Given the description of an element on the screen output the (x, y) to click on. 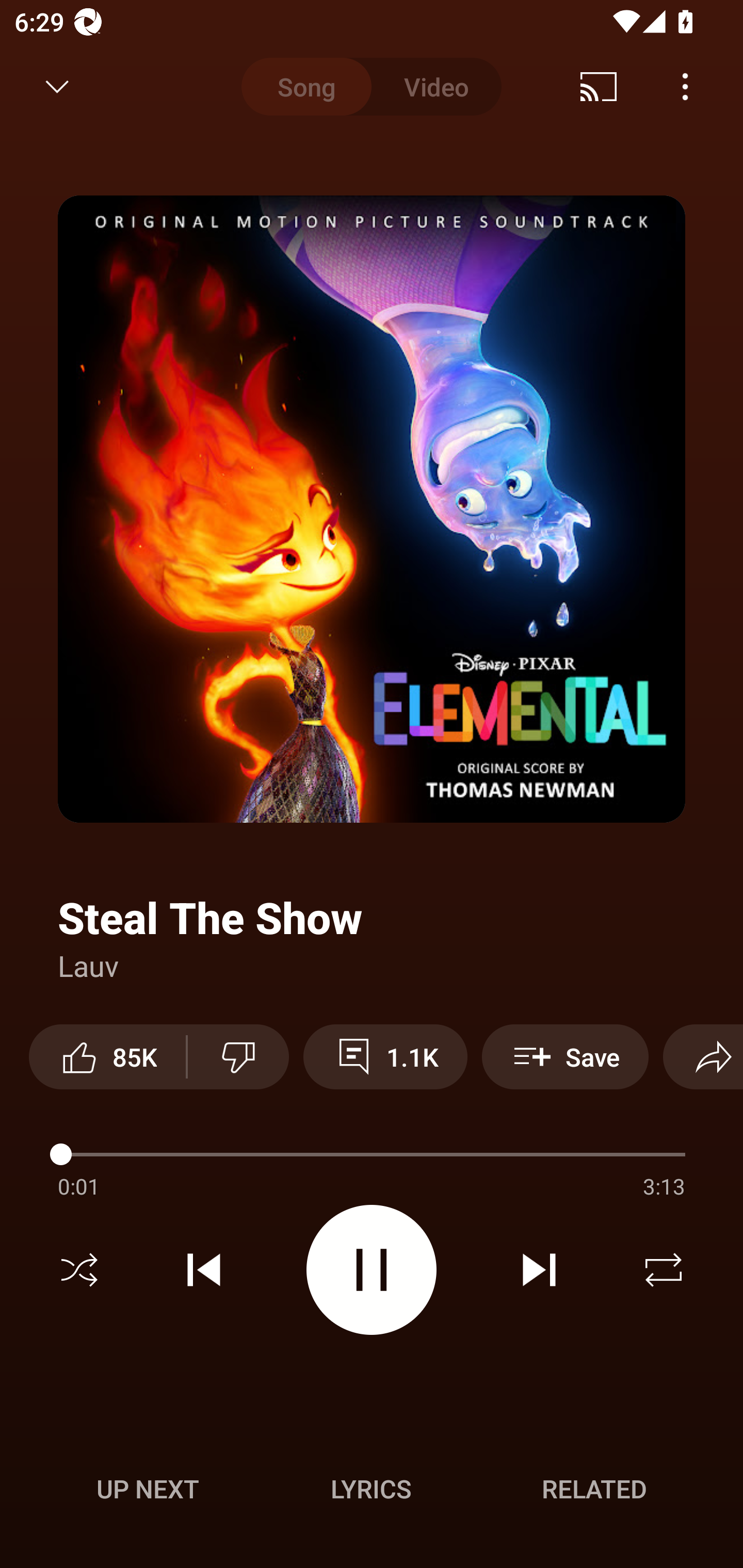
Minimize (57, 86)
Cast. Disconnected (598, 86)
Menu (684, 86)
85K like this video along with 85,778 other people (106, 1056)
Dislike (238, 1056)
1.1K View 1,180 comments (385, 1056)
Save Save to playlist (565, 1056)
Share (702, 1056)
Pause video (371, 1269)
Shuffle off (79, 1269)
Previous track (203, 1269)
Next track (538, 1269)
Repeat off (663, 1269)
Up next UP NEXT Lyrics LYRICS Related RELATED (371, 1491)
Lyrics LYRICS (370, 1488)
Related RELATED (594, 1488)
